Given the description of an element on the screen output the (x, y) to click on. 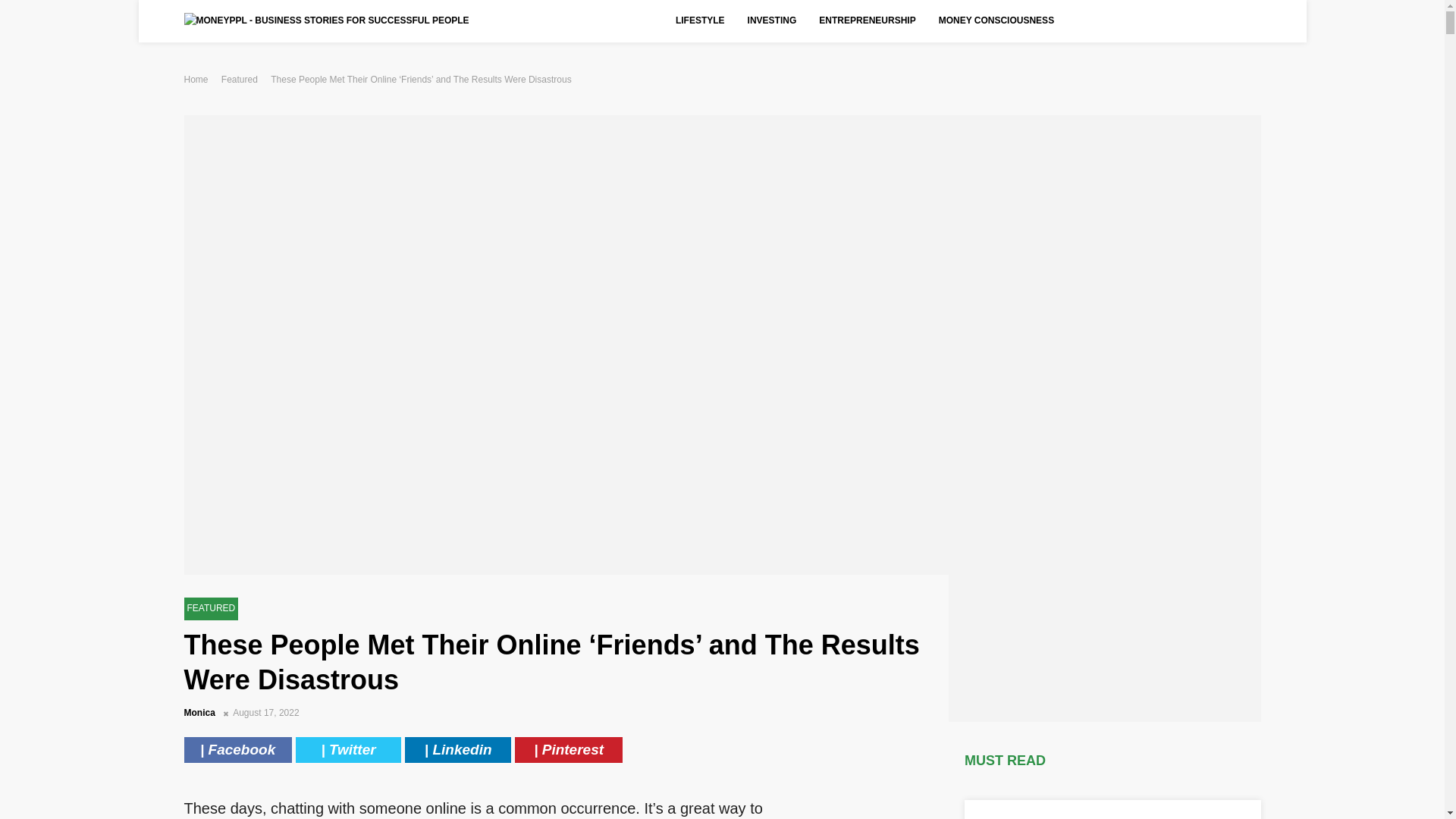
Featured (239, 79)
ENTREPRENEURSHIP (866, 21)
MONEY CONSCIOUSNESS (996, 21)
FEATURED (210, 608)
Monica (199, 712)
LIFESTYLE (700, 21)
Home (195, 79)
INVESTING (772, 21)
